Given the description of an element on the screen output the (x, y) to click on. 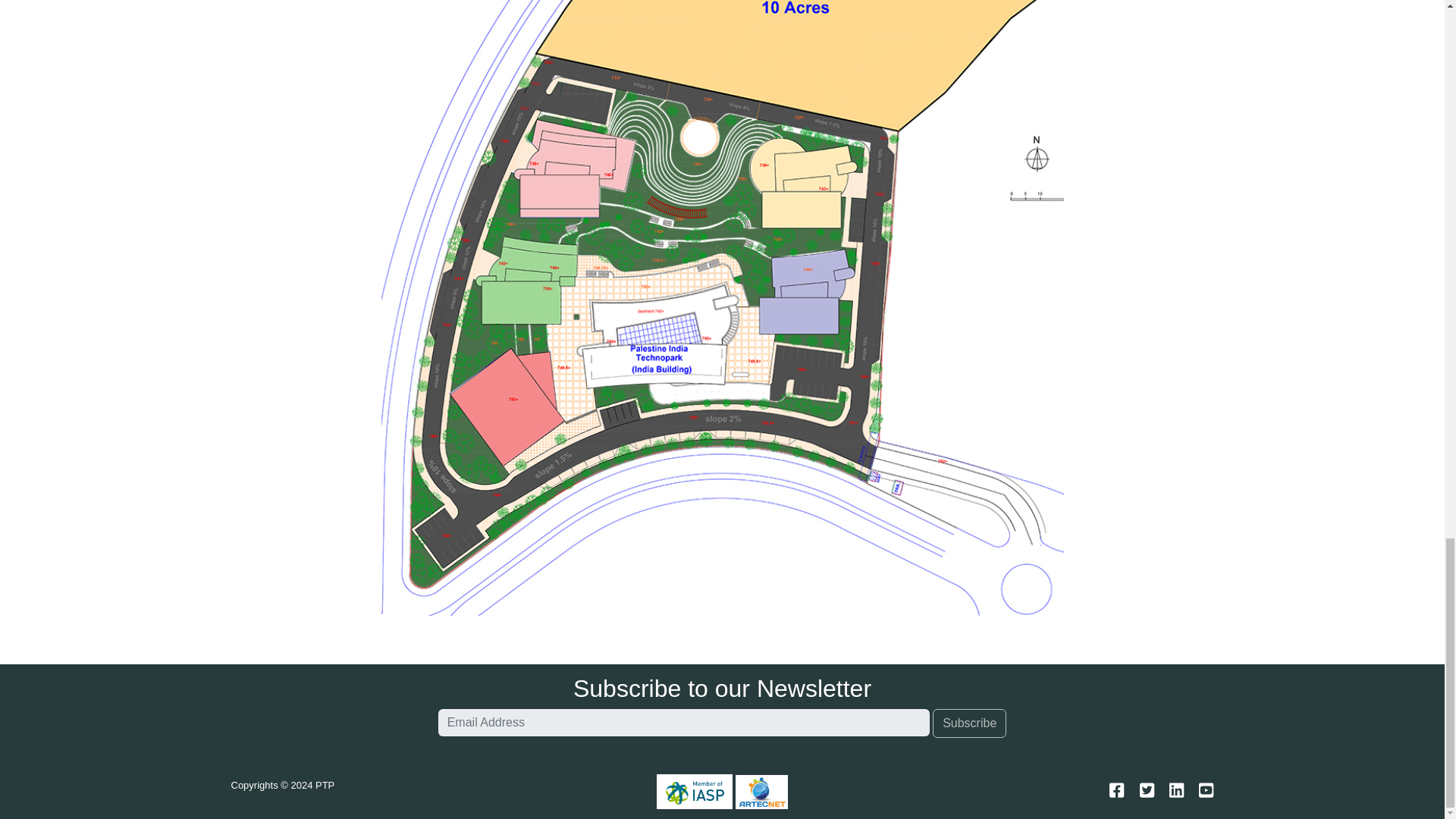
Subscribe (969, 723)
